Given the description of an element on the screen output the (x, y) to click on. 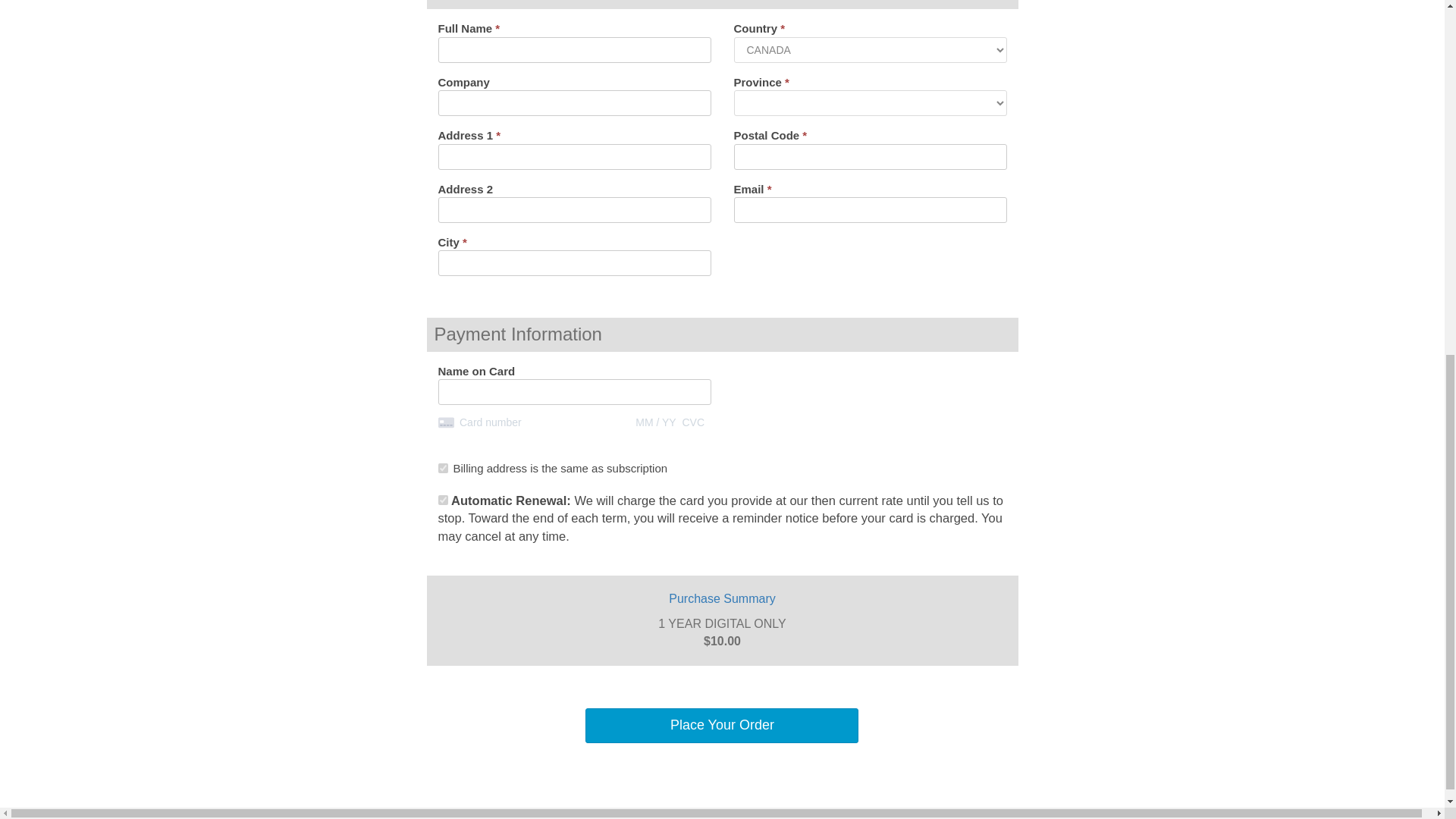
Magazine Subscription Management Software (692, 811)
on (443, 468)
Place Your Order (722, 725)
on (443, 500)
Secure card payment input frame (574, 422)
